Given the description of an element on the screen output the (x, y) to click on. 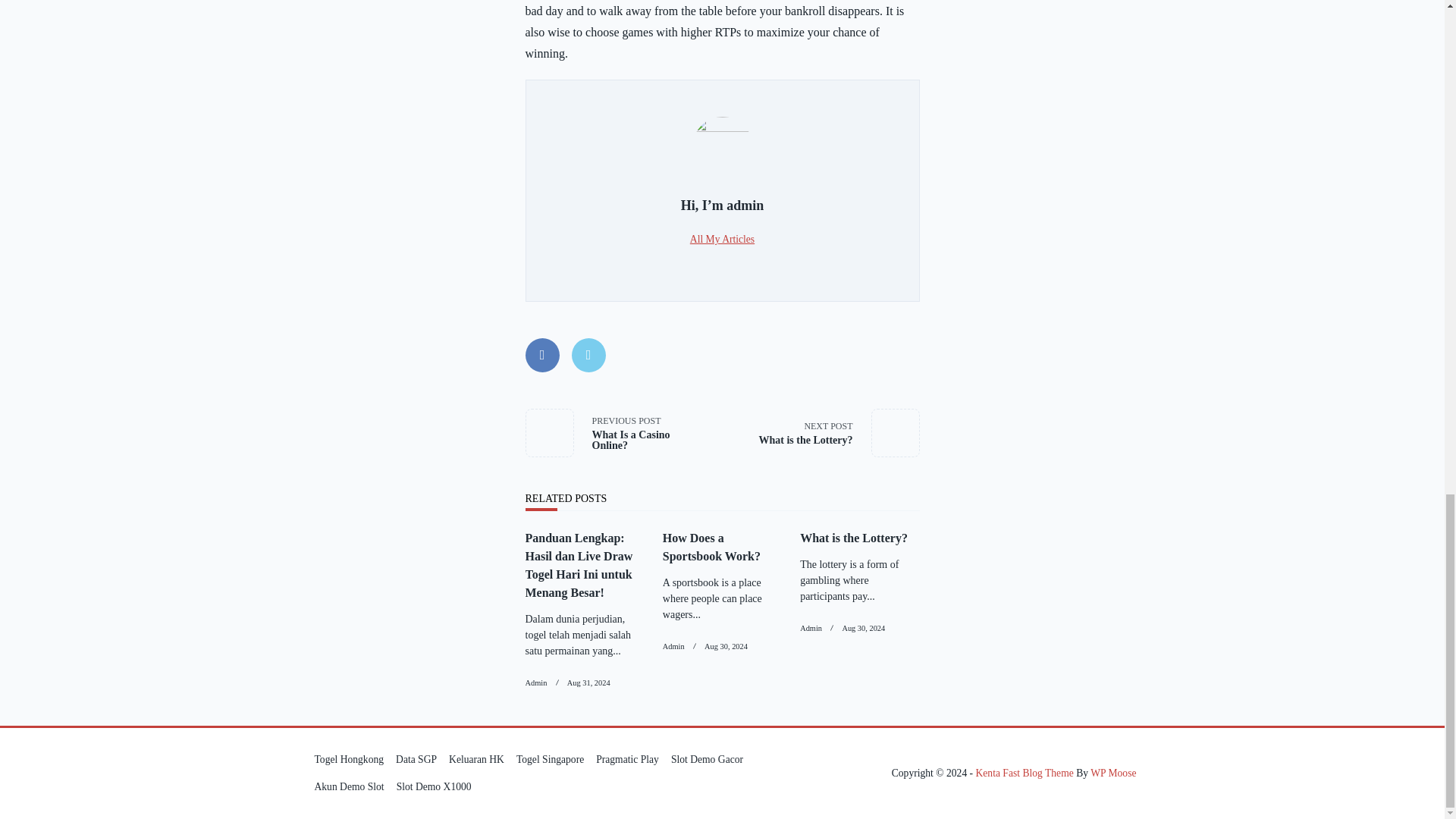
Aug 30, 2024 (726, 646)
All My Articles (722, 238)
How Does a Sportsbook Work? (711, 546)
Admin (623, 432)
Aug 31, 2024 (535, 682)
What is the Lottery? (588, 682)
Admin (853, 537)
